Given the description of an element on the screen output the (x, y) to click on. 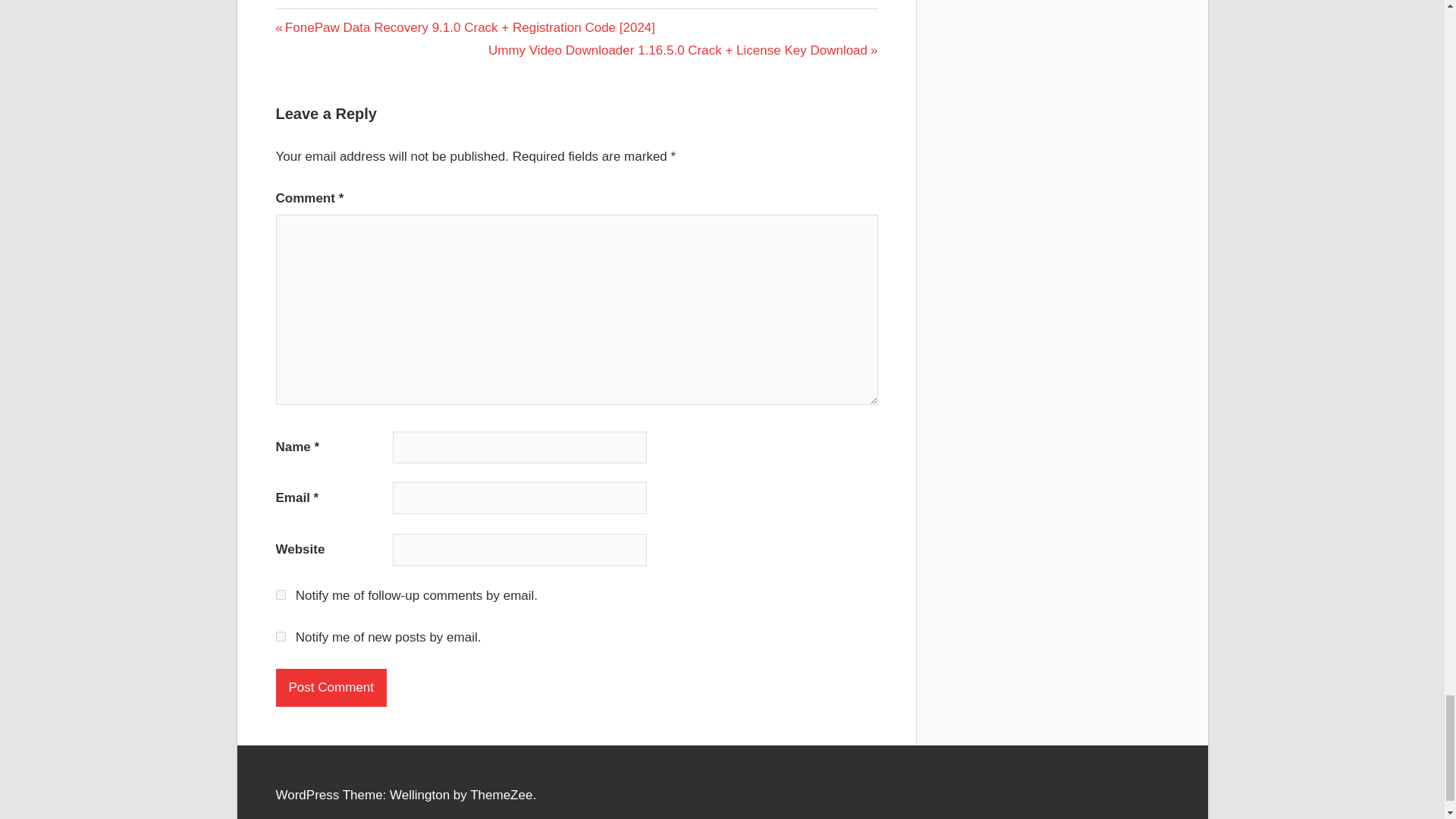
Post Comment (331, 687)
subscribe (280, 594)
subscribe (280, 636)
